Given the description of an element on the screen output the (x, y) to click on. 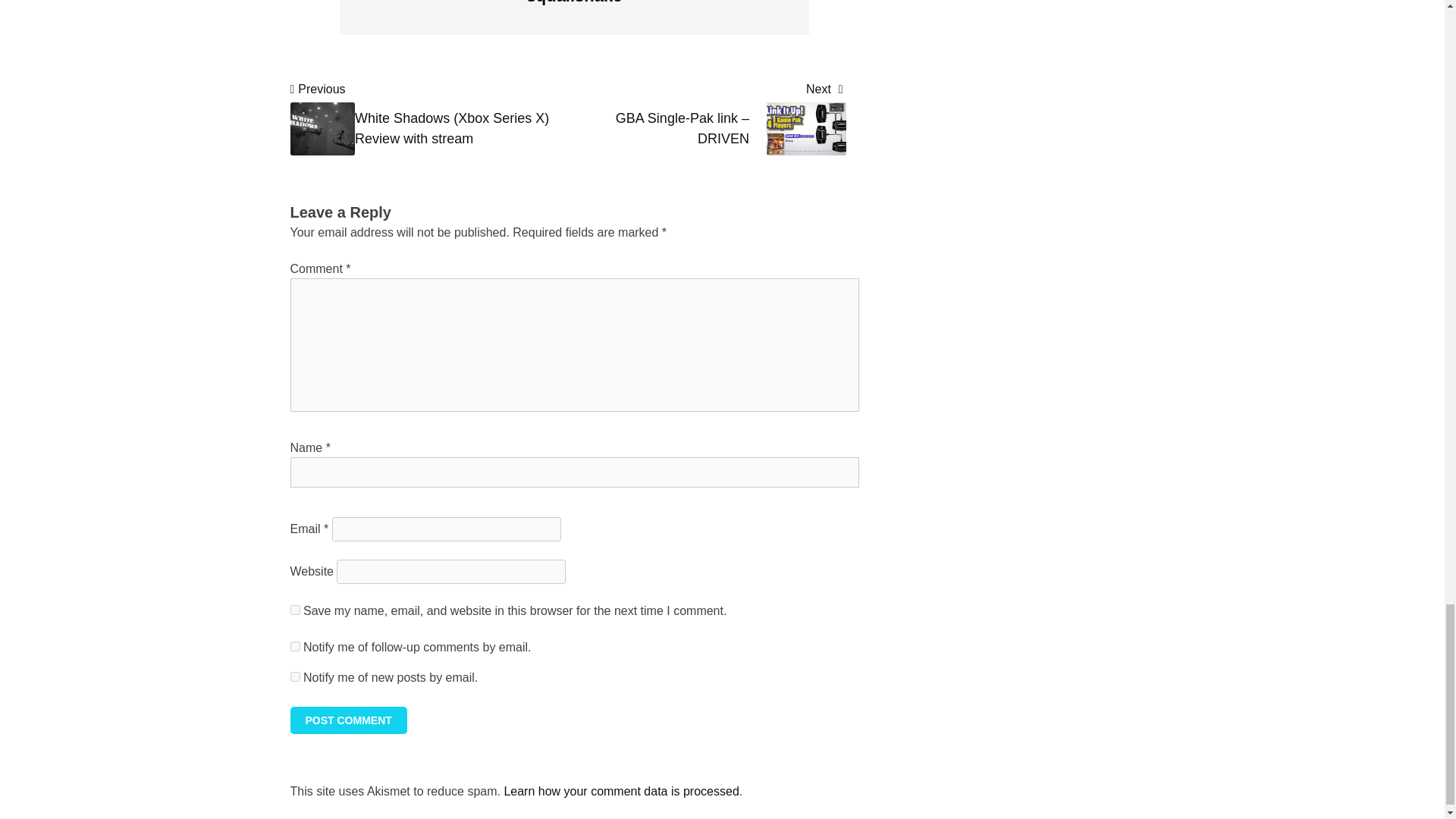
yes (294, 610)
subscribe (294, 646)
subscribe (294, 676)
Post Comment (347, 719)
